Given the description of an element on the screen output the (x, y) to click on. 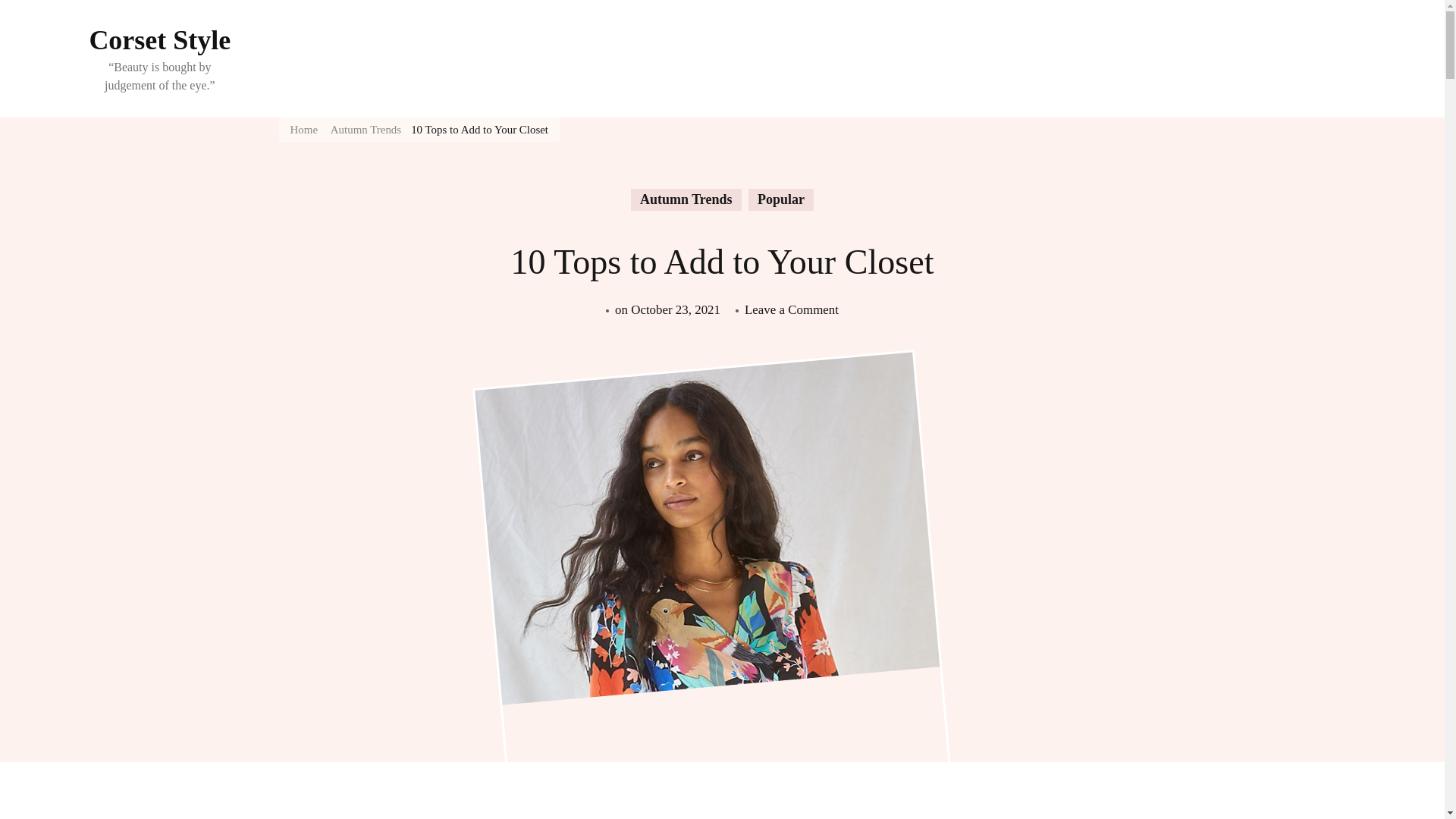
Autumn Trends (365, 129)
Autumn Trends (685, 199)
Corset Style (159, 40)
Home (303, 129)
10 Tops to Add to Your Closet (479, 129)
October 23, 2021 (791, 309)
Popular (675, 309)
